Given the description of an element on the screen output the (x, y) to click on. 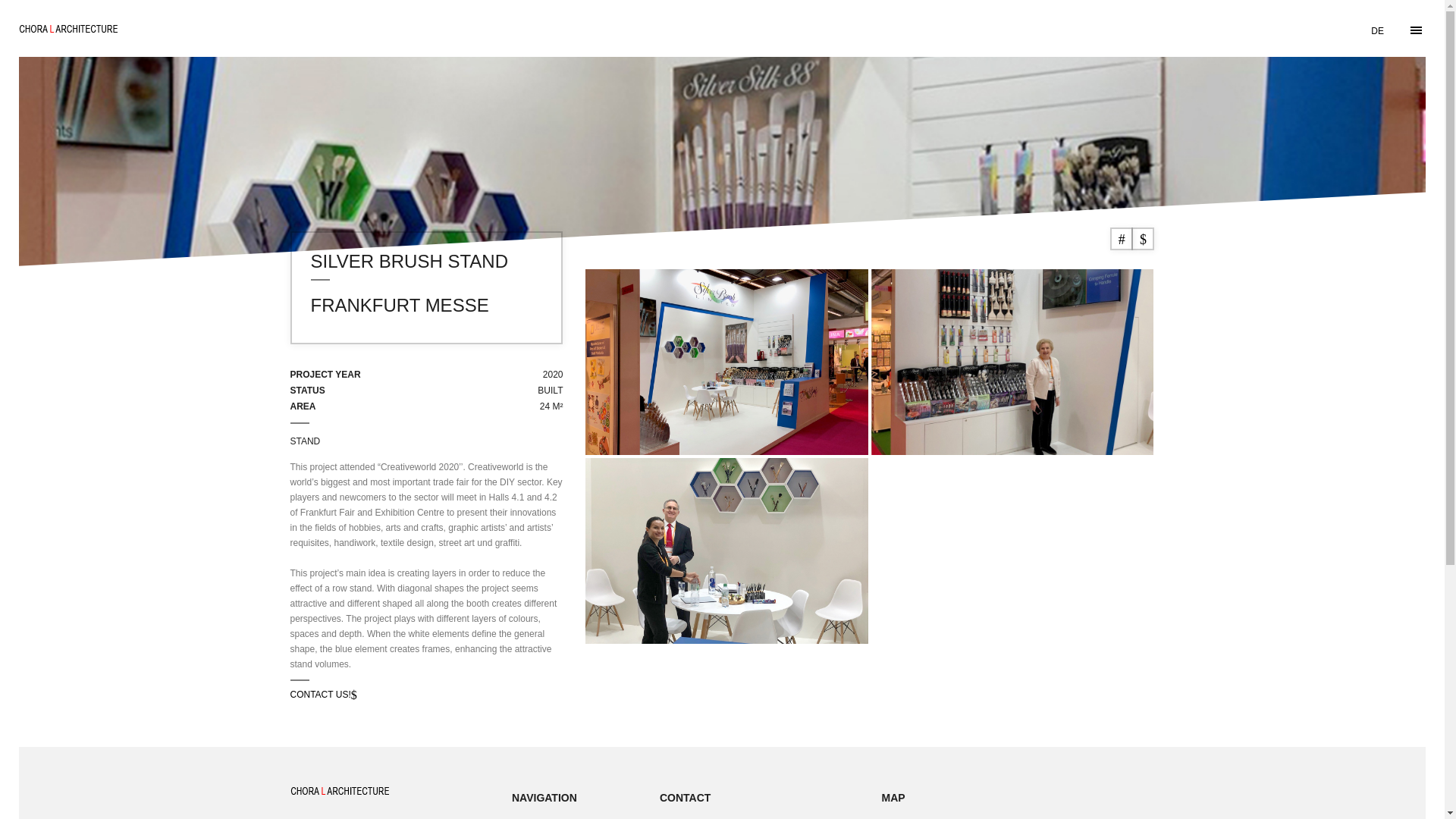
CONTACT US! (322, 694)
DE (1377, 38)
